Given the description of an element on the screen output the (x, y) to click on. 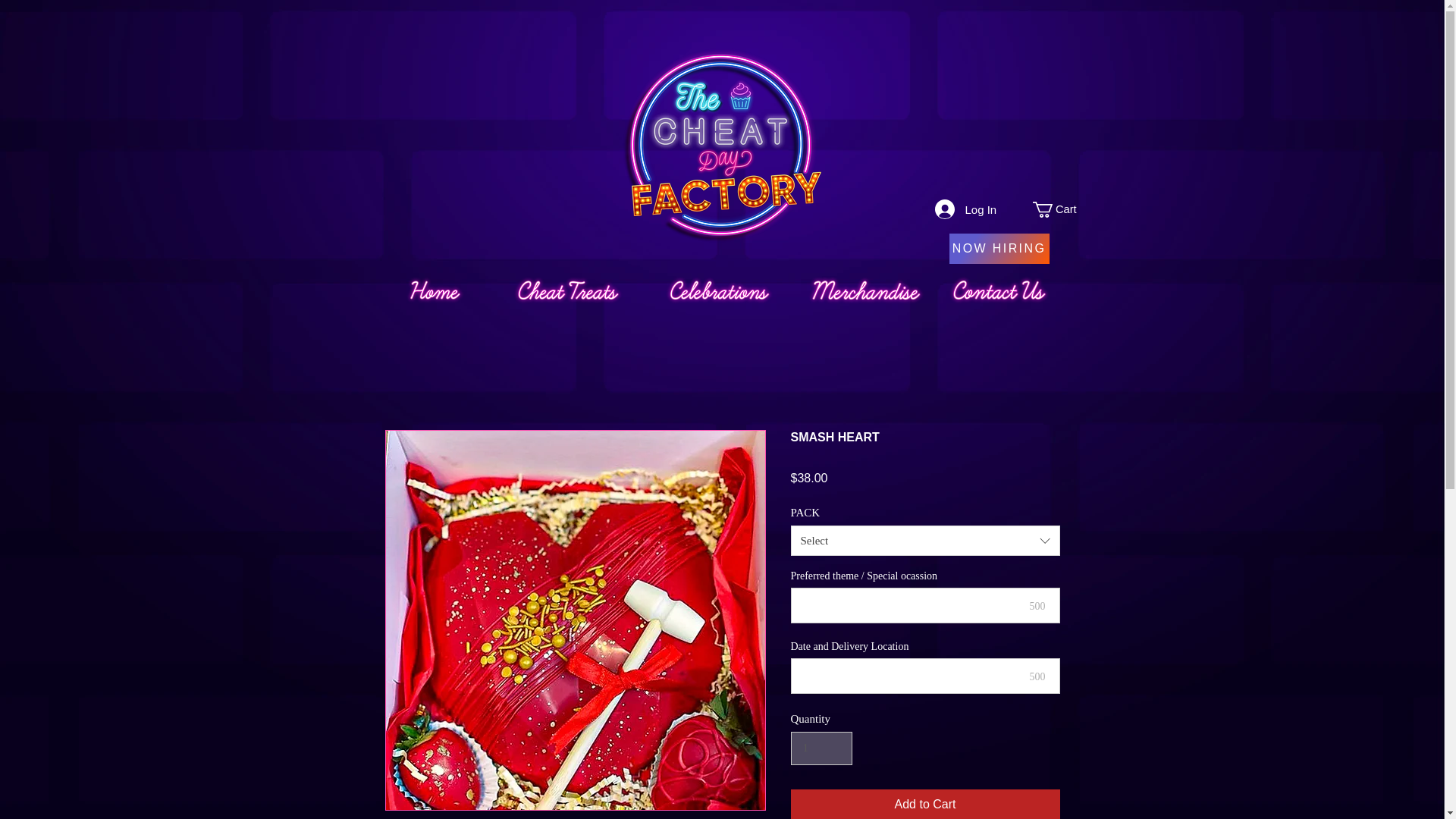
NOW HIRING (999, 248)
Cart (1063, 209)
1 (820, 748)
Select (924, 540)
Cart (1063, 209)
Add to Cart (924, 804)
Log In (939, 208)
